Given the description of an element on the screen output the (x, y) to click on. 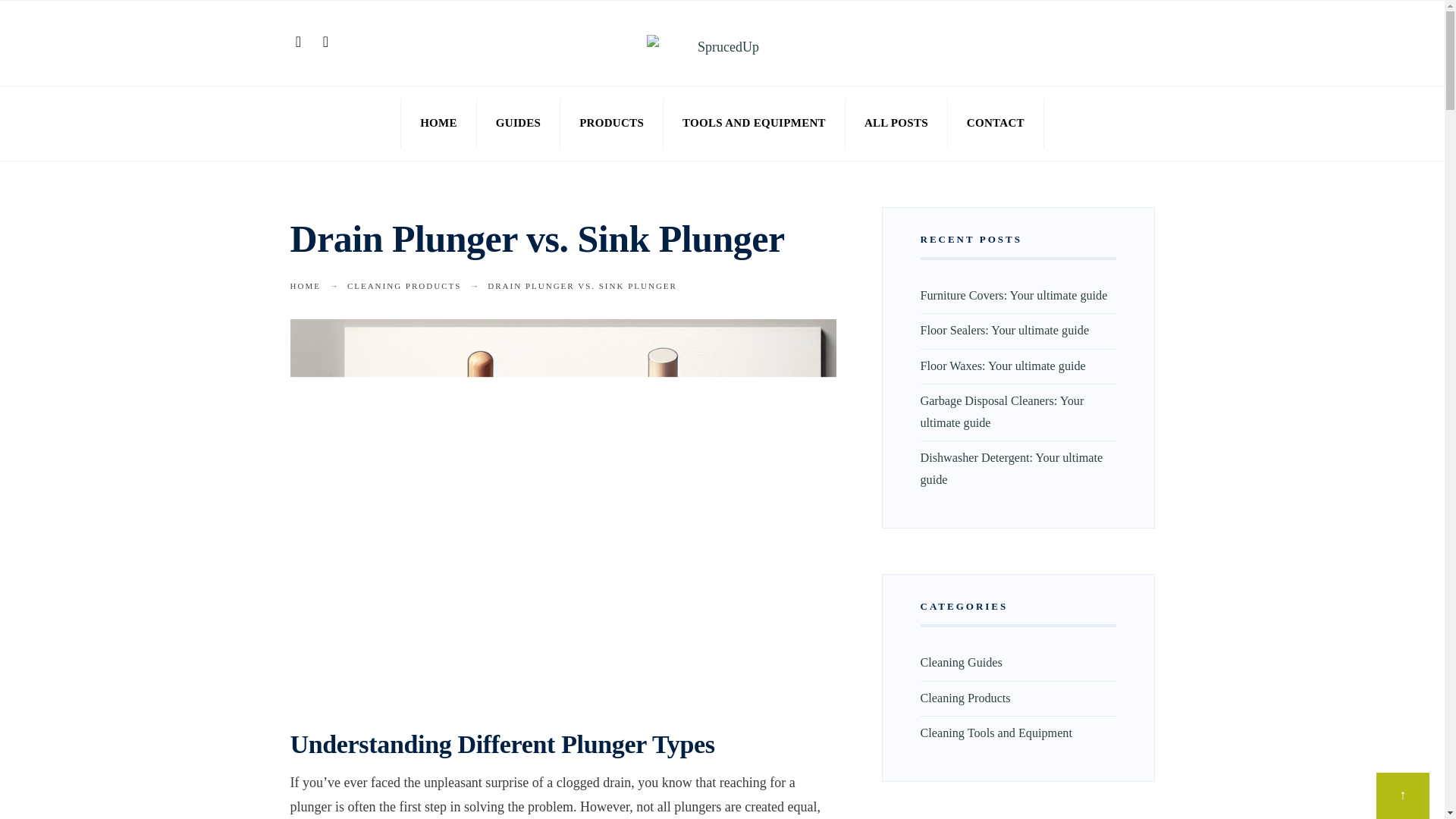
Cleaning Guides (961, 662)
HOME (438, 123)
Furniture Covers: Your ultimate guide (1014, 295)
Floor Sealers: Your ultimate guide (1004, 330)
Scroll to top (1402, 796)
CONTACT (994, 123)
TOOLS AND EQUIPMENT (753, 123)
GUIDES (518, 123)
ALL POSTS (895, 123)
